Given the description of an element on the screen output the (x, y) to click on. 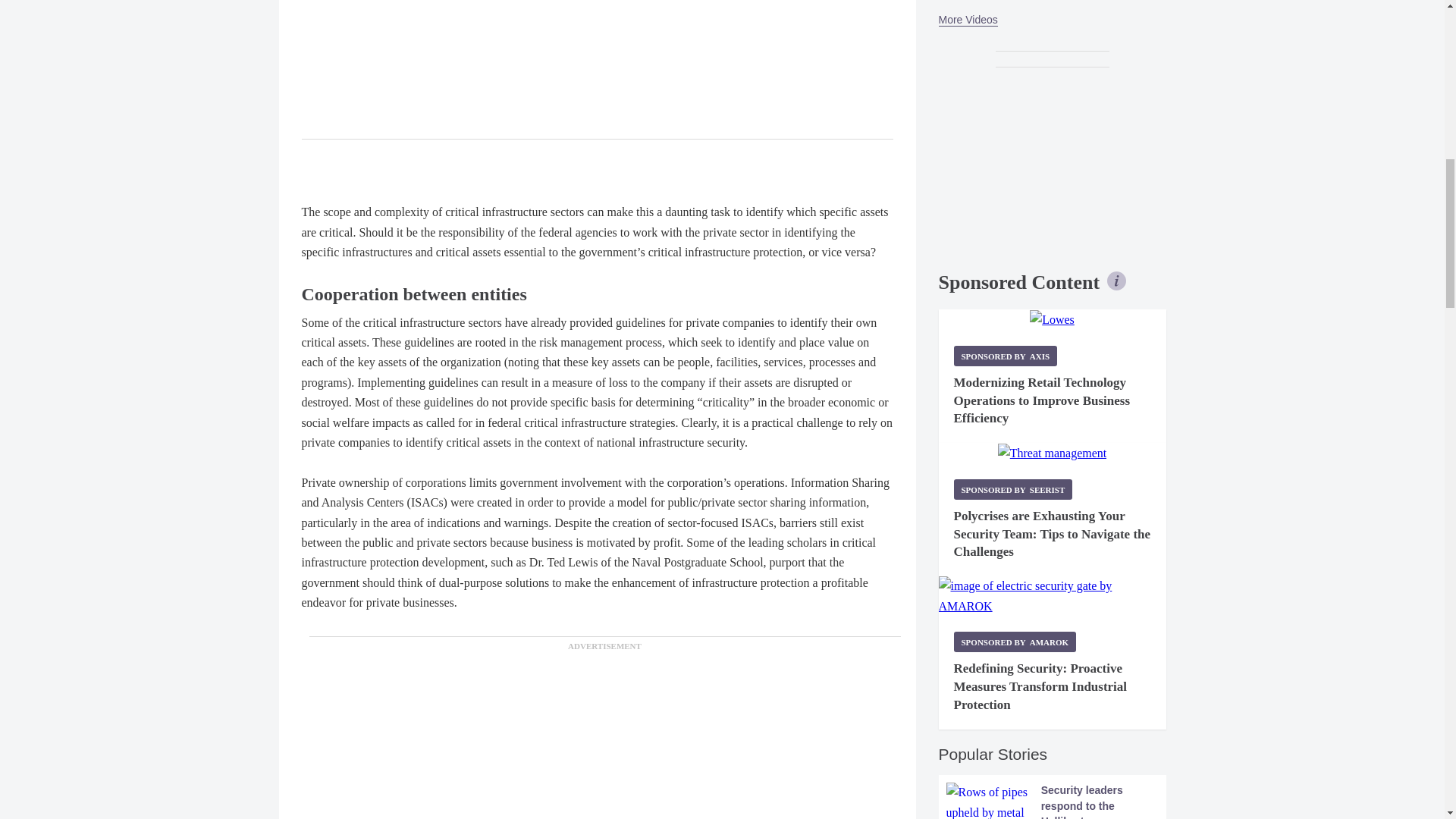
Threat management (1051, 453)
Sponsored by AMAROK (1015, 641)
Sponsored by Axis (1005, 355)
Lowes (1051, 320)
Security leaders respond to the Halliburton cyberattack (1052, 800)
AMAROK Security Gate (1052, 596)
Sponsored by Seerist (1013, 489)
